Given the description of an element on the screen output the (x, y) to click on. 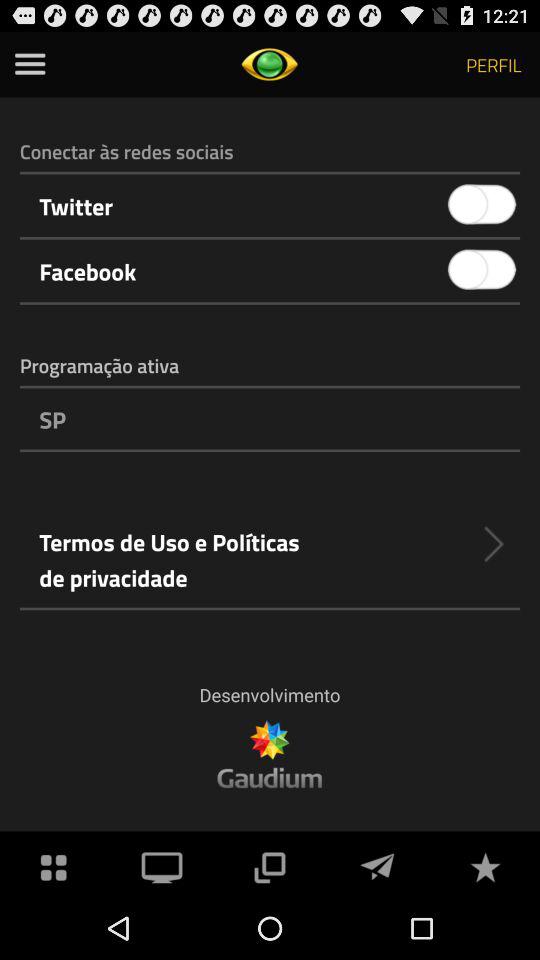
tap the icon next to twitter app (482, 204)
